Given the description of an element on the screen output the (x, y) to click on. 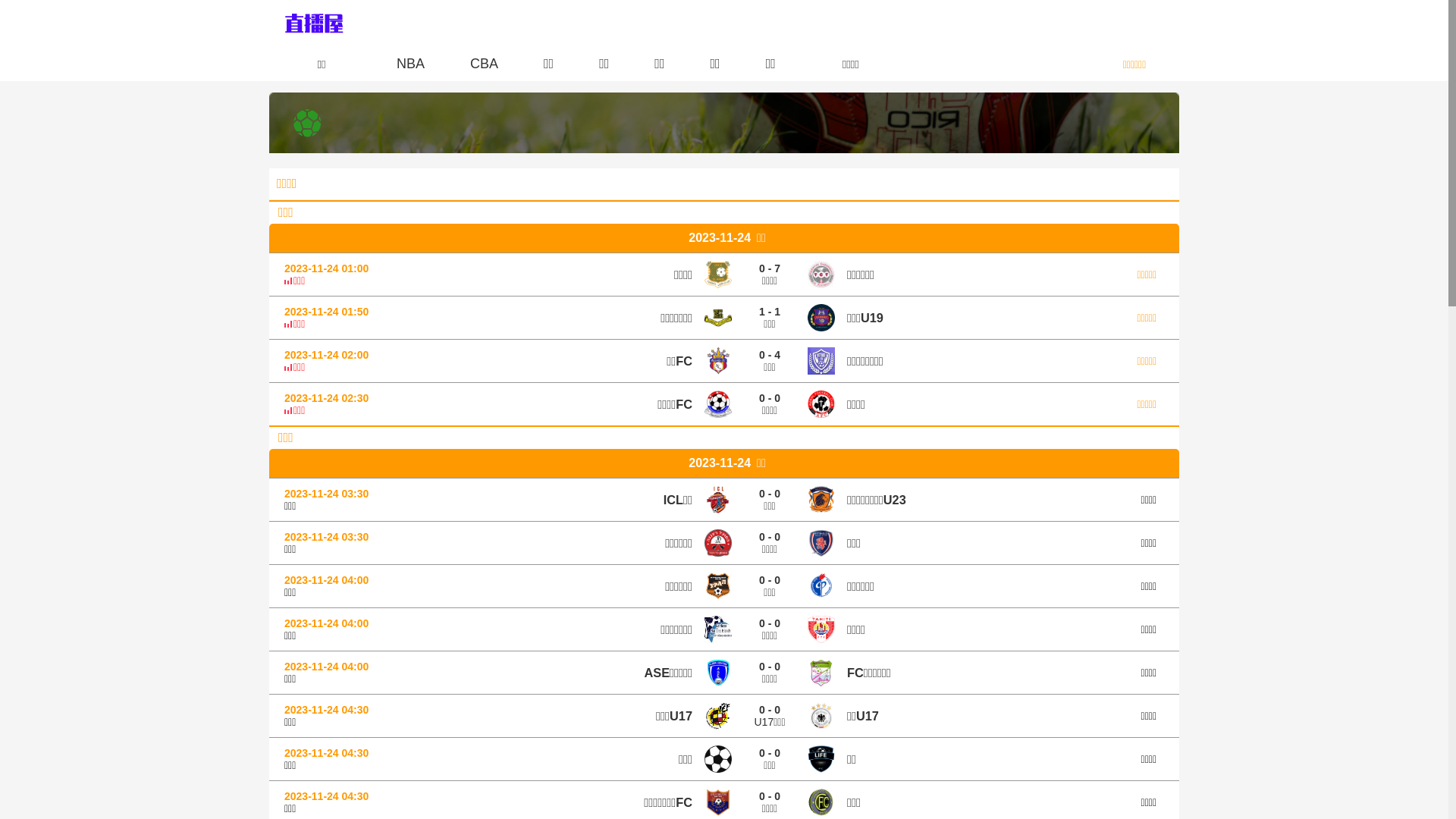
NBA Element type: text (410, 63)
CBA Element type: text (484, 63)
